Given the description of an element on the screen output the (x, y) to click on. 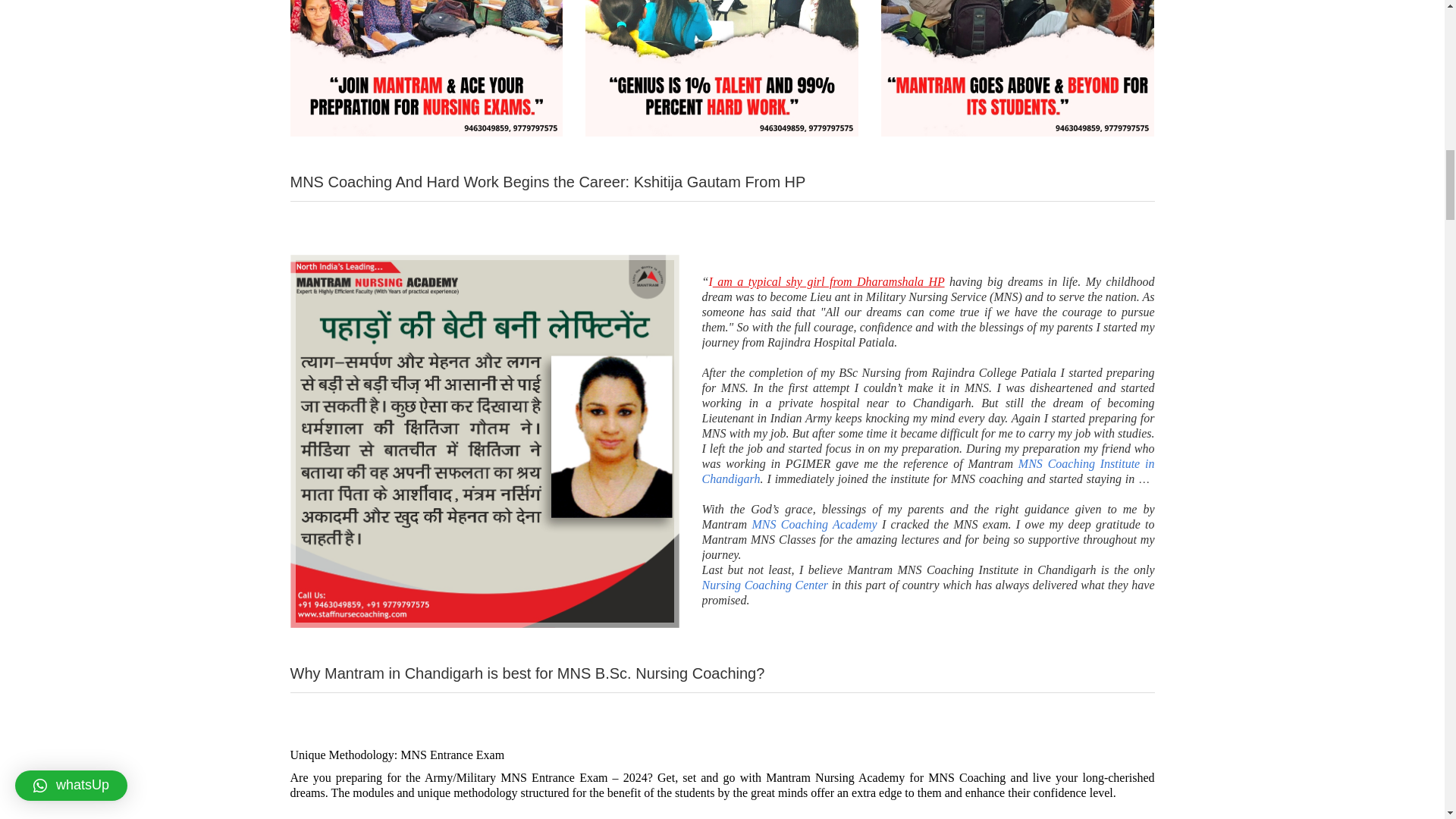
Nursing Coaching Center (764, 584)
MNS Coaching (967, 777)
MNS Coaching Academy (813, 523)
MNS Coaching Institute in Chandigarh (927, 471)
